Given the description of an element on the screen output the (x, y) to click on. 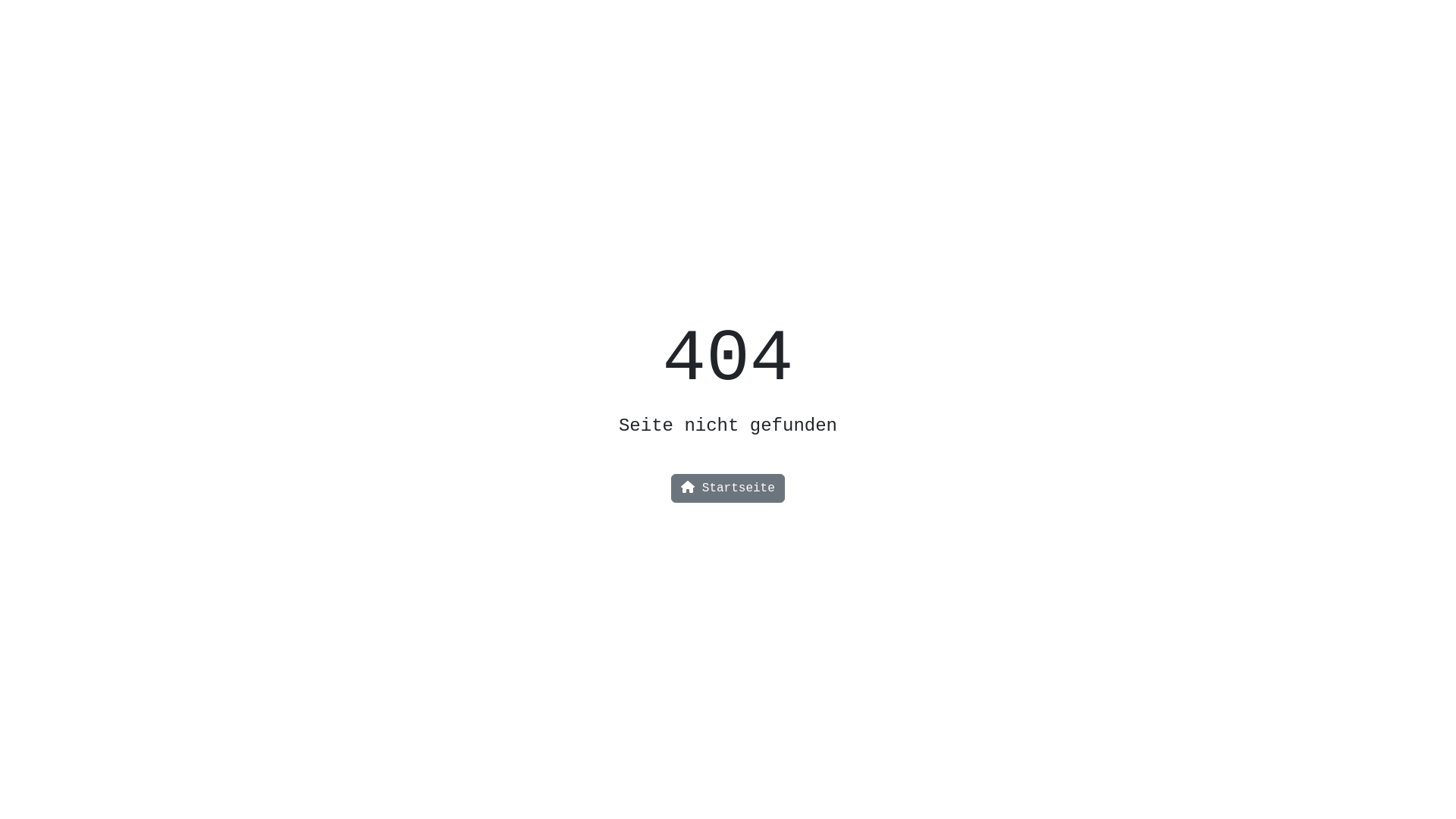
Startseite Element type: text (727, 487)
